Given the description of an element on the screen output the (x, y) to click on. 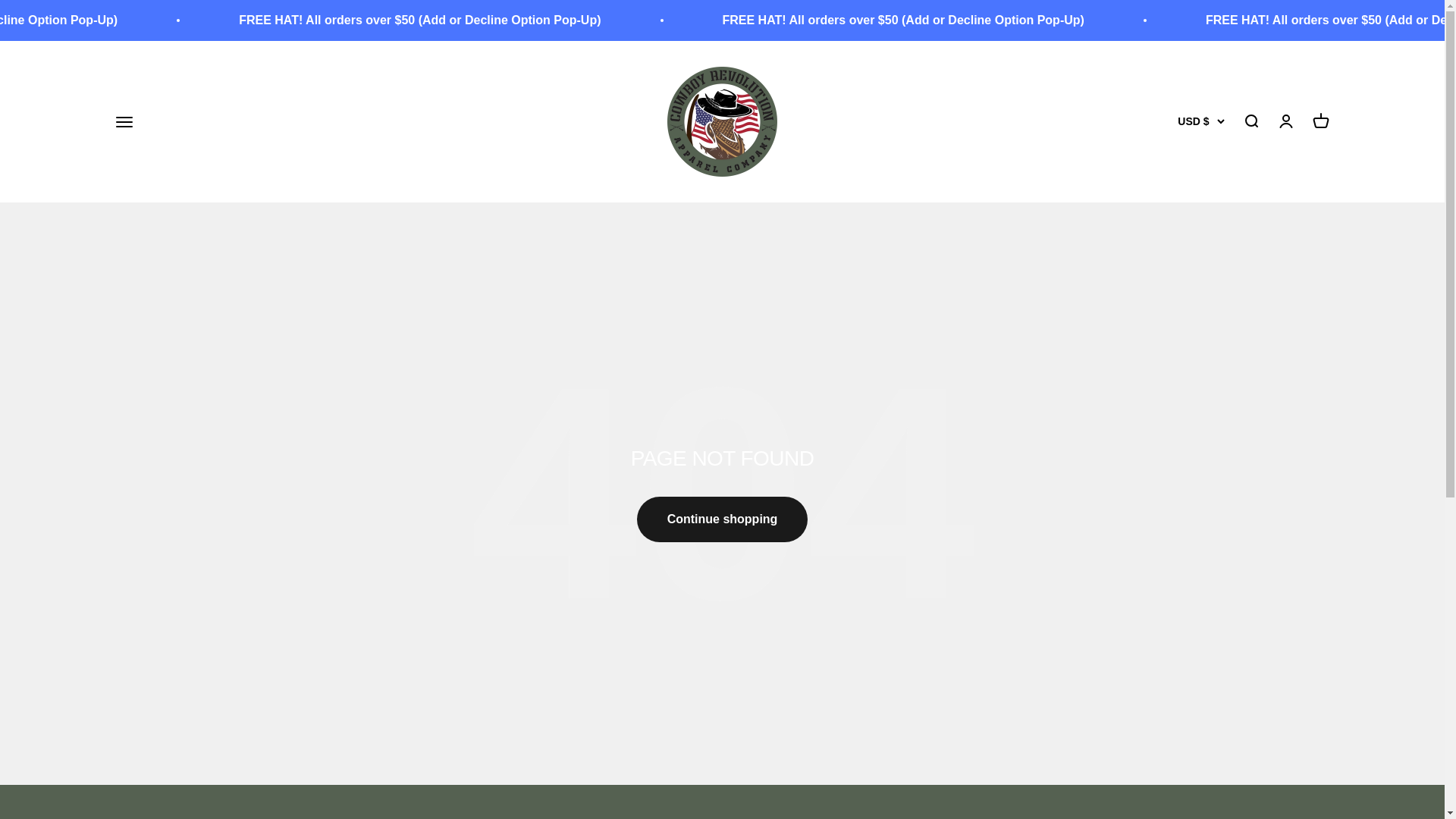
Open cart (1319, 121)
Open search (1250, 121)
Open account page (1285, 121)
Cowboy Revolution Apparel Co. (721, 121)
Open navigation menu (123, 121)
